Given the description of an element on the screen output the (x, y) to click on. 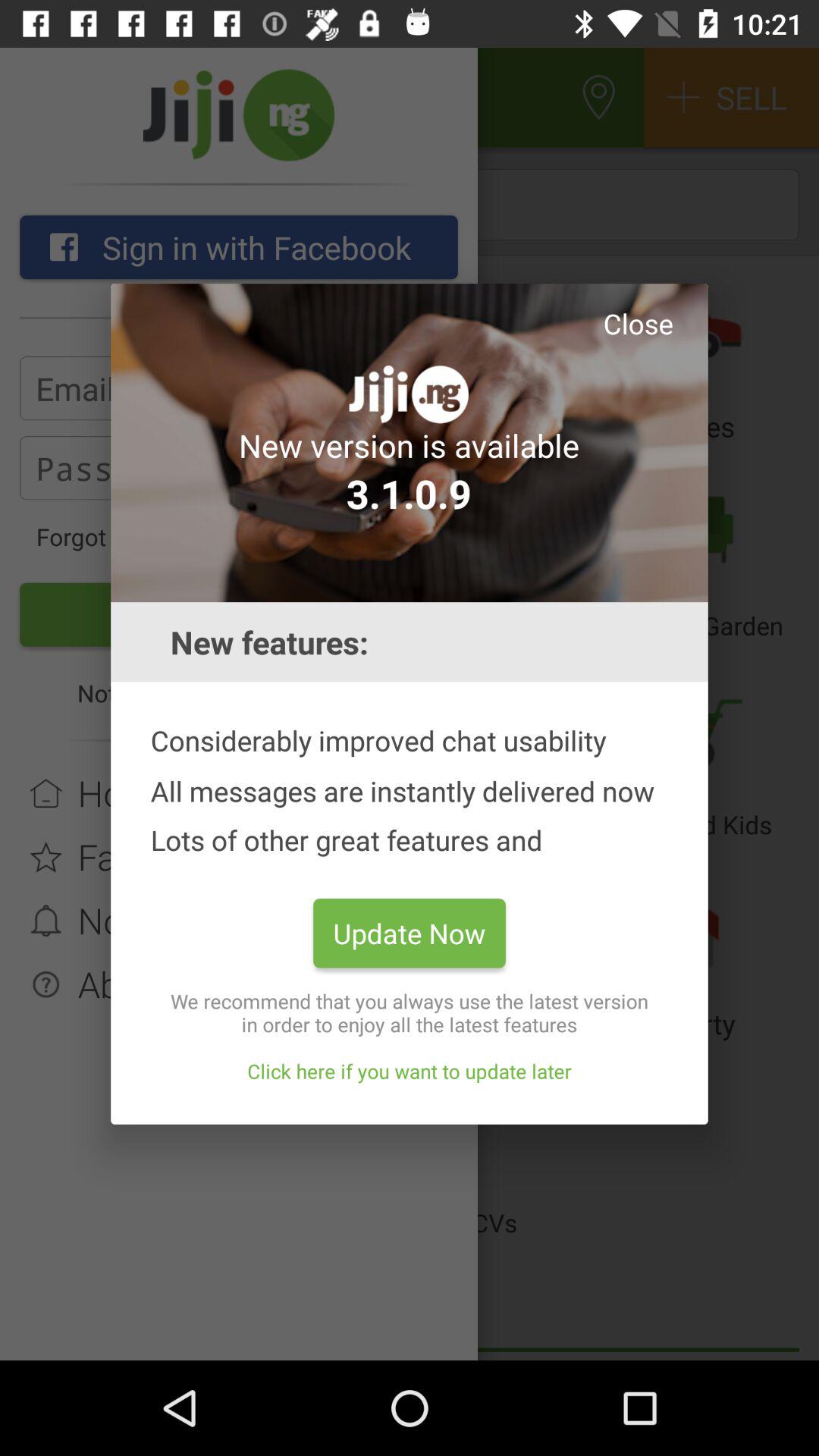
flip until click here if item (409, 1070)
